Given the description of an element on the screen output the (x, y) to click on. 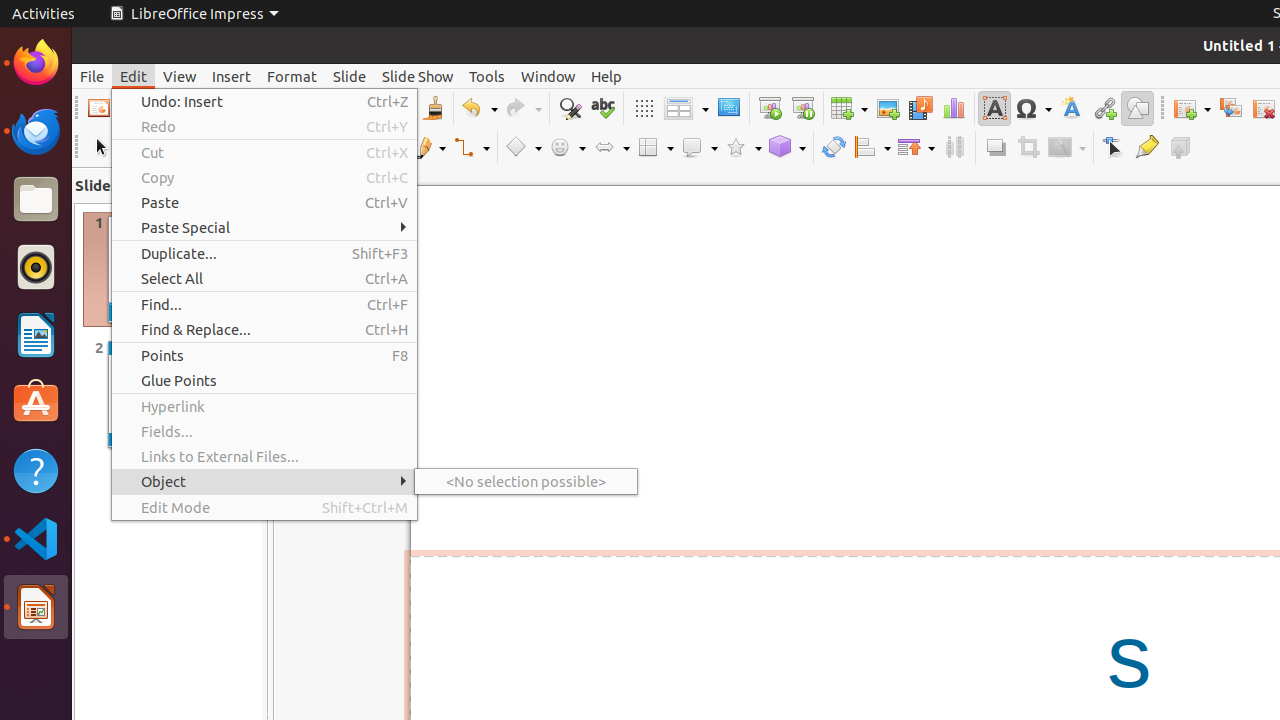
Edit Mode Element type: menu-item (264, 507)
Object Element type: menu (264, 481)
Slide Element type: menu (349, 76)
Paste Element type: menu-item (264, 202)
Files Element type: push-button (36, 199)
